Given the description of an element on the screen output the (x, y) to click on. 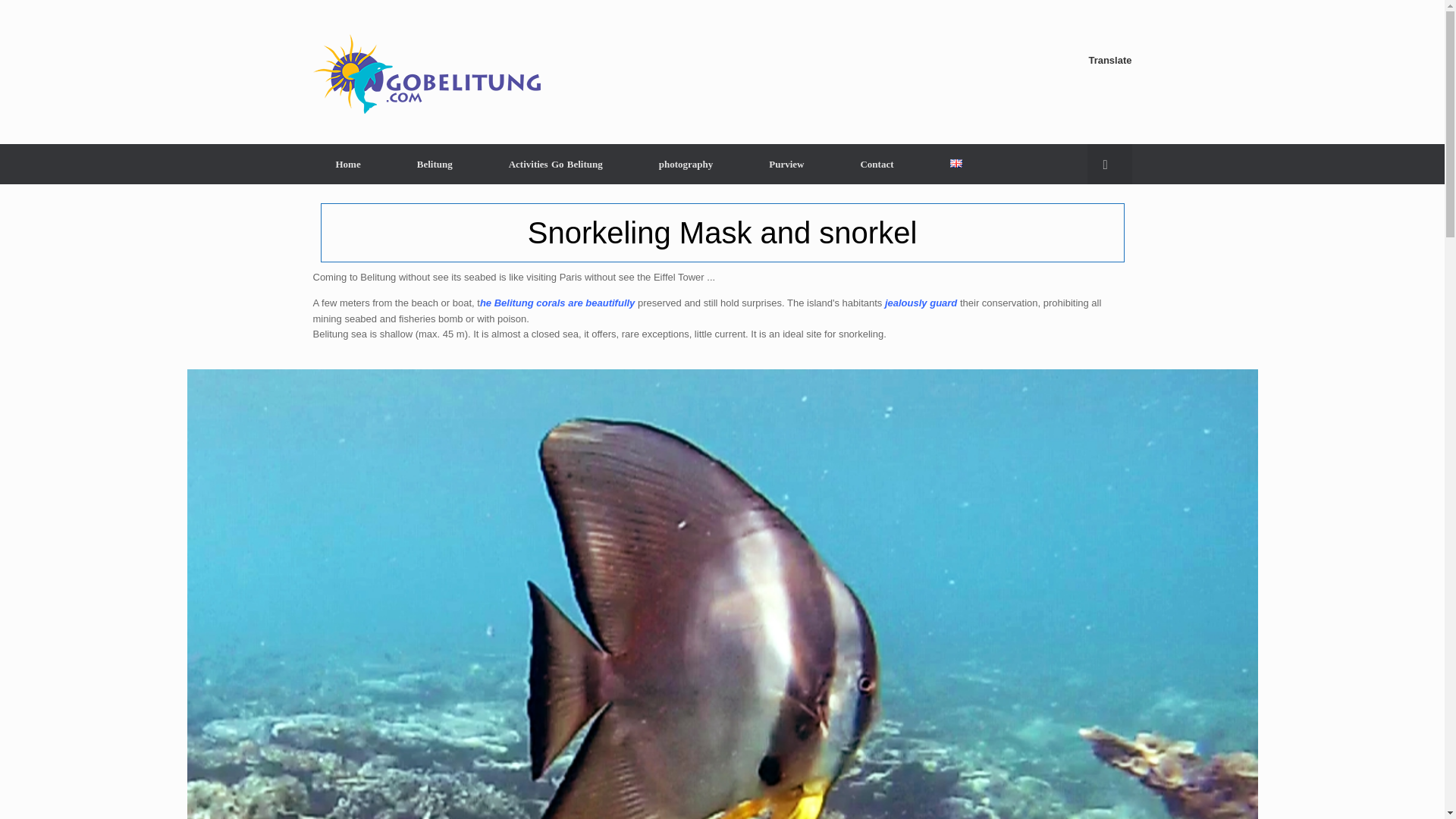
Activities Go Belitung (554, 164)
photography (685, 164)
Home (347, 164)
Purview (785, 164)
Belitung Island Tourism (426, 73)
Contact (876, 164)
Belitung (434, 164)
